Given the description of an element on the screen output the (x, y) to click on. 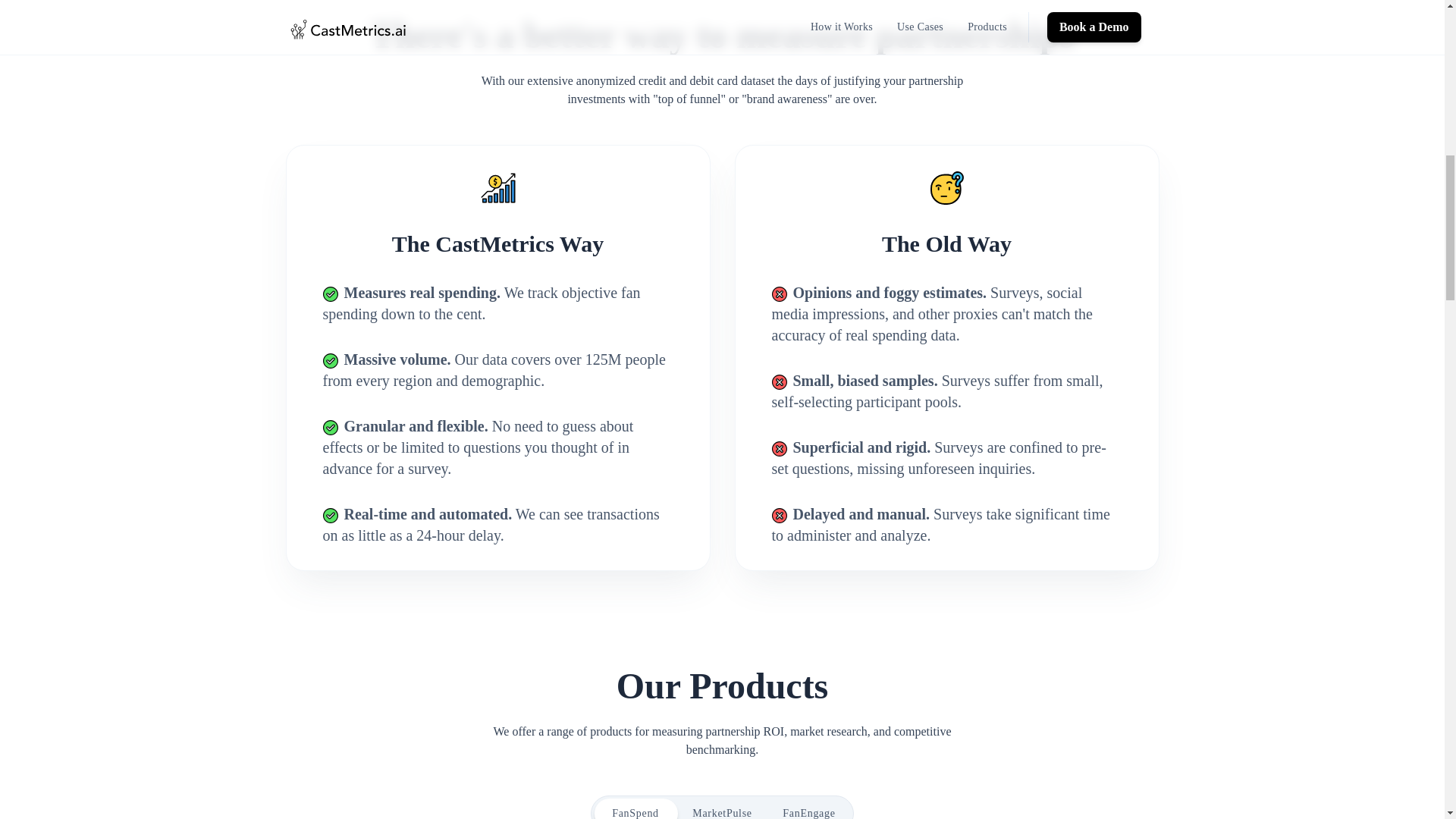
FanSpend (635, 808)
tab item (635, 808)
MarketPulse (720, 808)
FanEngage (808, 808)
tab item (720, 808)
tab item (808, 808)
